Given the description of an element on the screen output the (x, y) to click on. 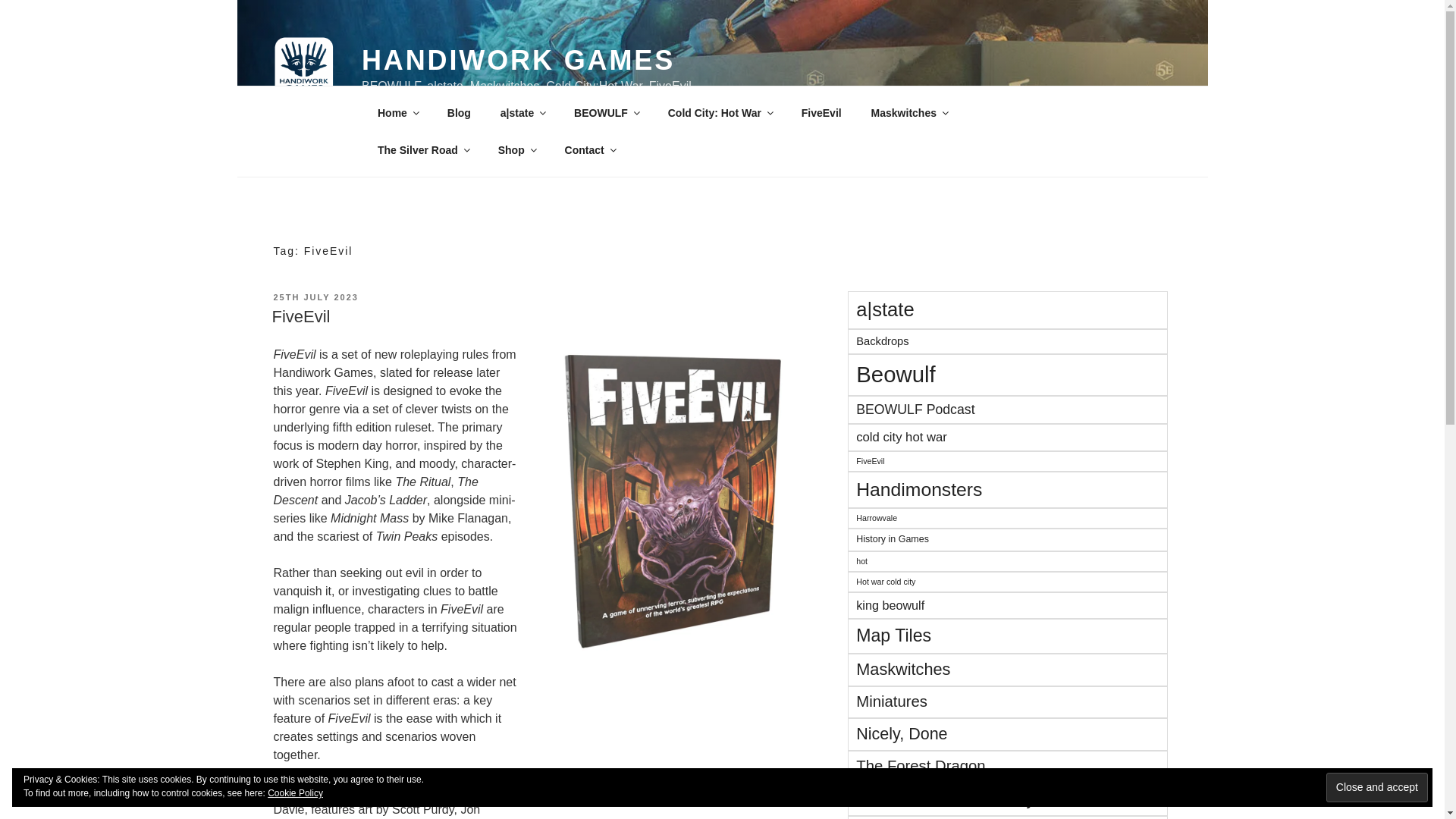
HANDIWORK GAMES (518, 60)
Home (397, 112)
Blog (458, 112)
BEOWULF (606, 112)
Close and accept (1377, 787)
